Given the description of an element on the screen output the (x, y) to click on. 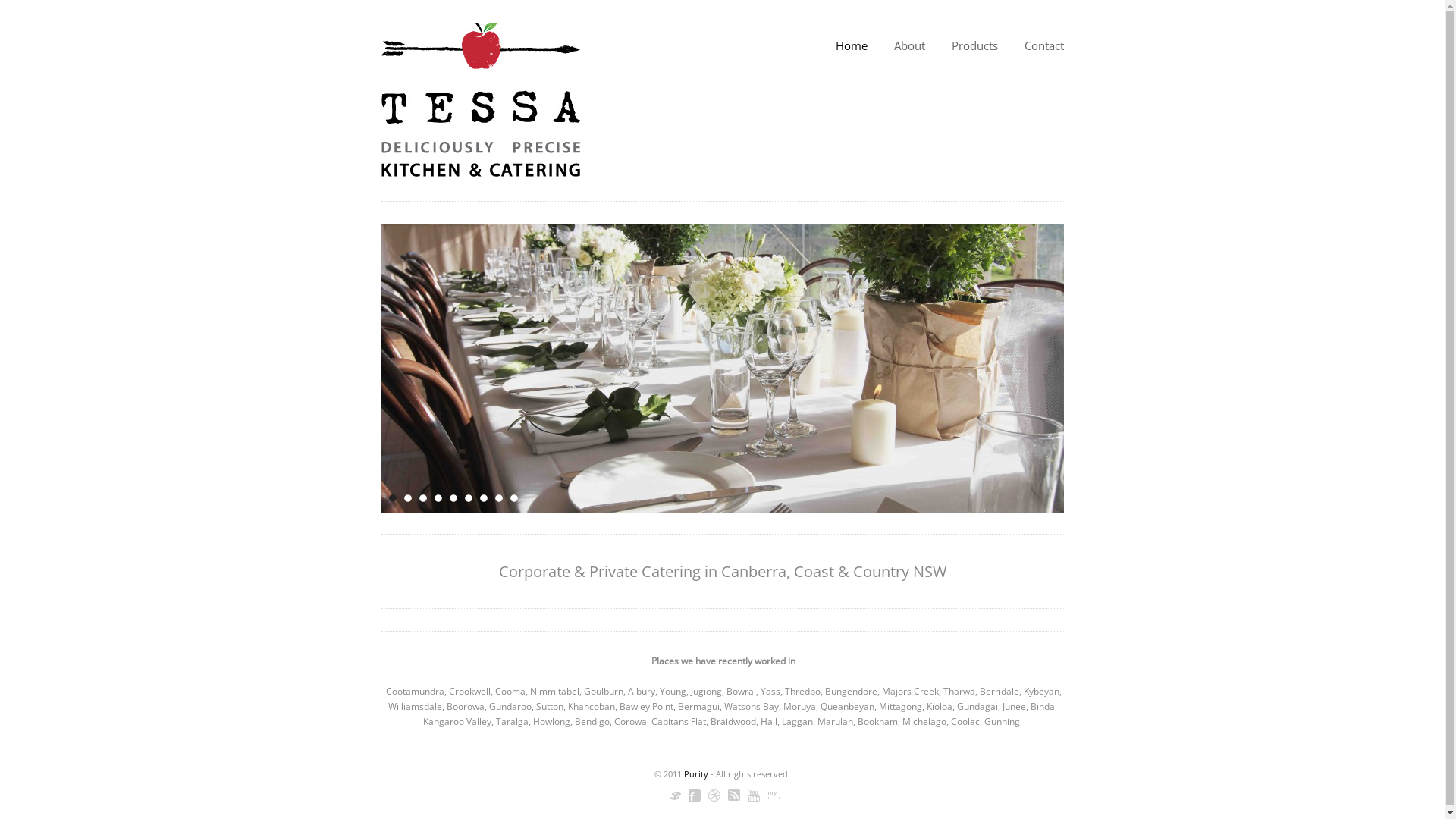
1 Element type: text (391, 498)
2 Element type: text (407, 498)
3 Element type: text (422, 498)
8 Element type: text (498, 498)
About Element type: text (908, 45)
5 Element type: text (452, 498)
Purity Element type: text (696, 773)
7 Element type: text (482, 498)
Products Element type: text (973, 45)
9 Element type: text (513, 498)
Home Element type: text (851, 45)
6 Element type: text (467, 498)
Contact Element type: text (1043, 45)
4 Element type: text (437, 498)
